Given the description of an element on the screen output the (x, y) to click on. 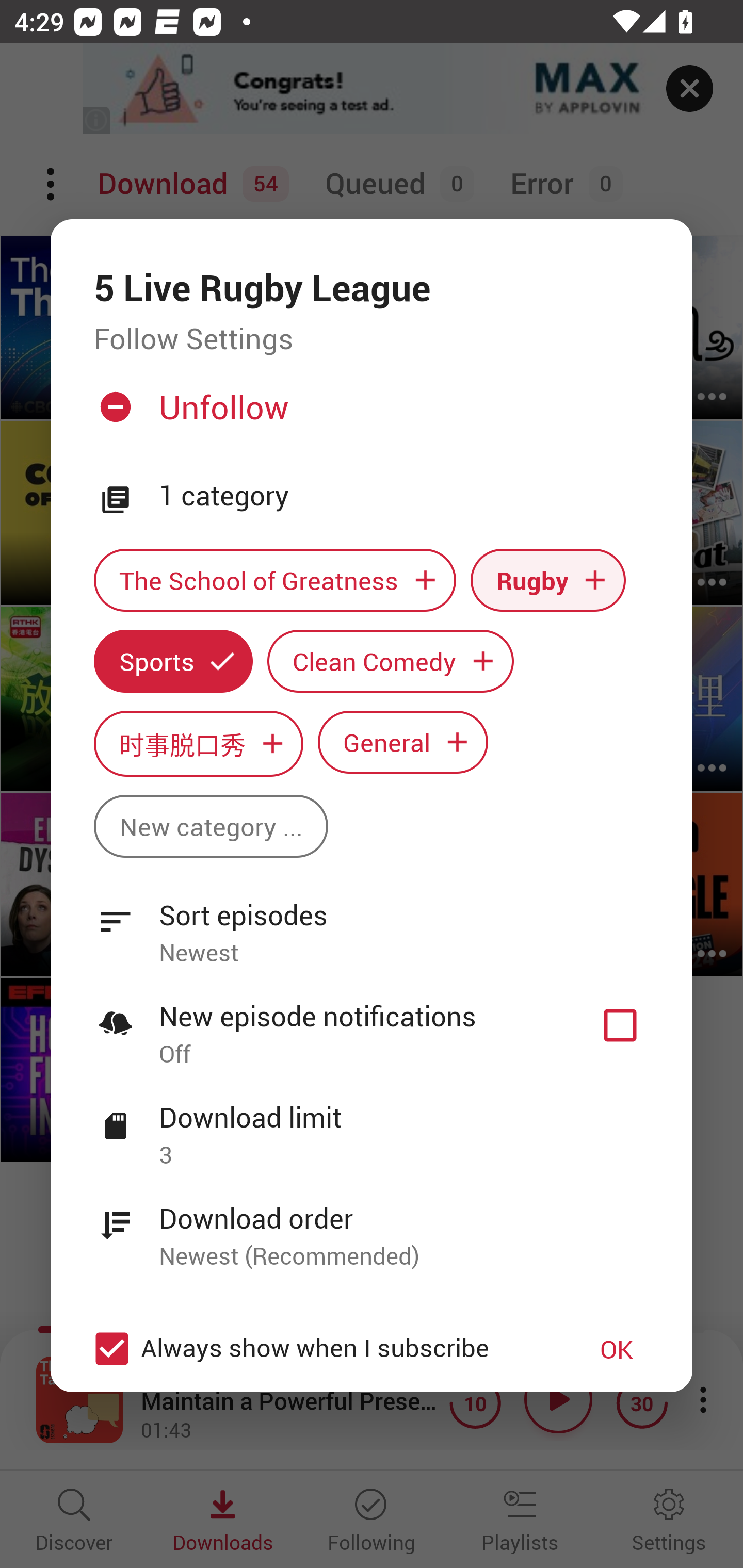
Unfollow (369, 415)
1 category (404, 495)
The School of Greatness (274, 579)
Rugby (547, 579)
Sports (172, 661)
Clean Comedy (390, 661)
时事脱口秀 (198, 743)
General (403, 741)
New category ... (210, 825)
Sort episodes Newest (371, 922)
New episode notifications (620, 1025)
Download limit 3 (371, 1125)
Download order Newest (Recommended) (371, 1226)
OK (616, 1349)
Always show when I subscribe (320, 1349)
